Given the description of an element on the screen output the (x, y) to click on. 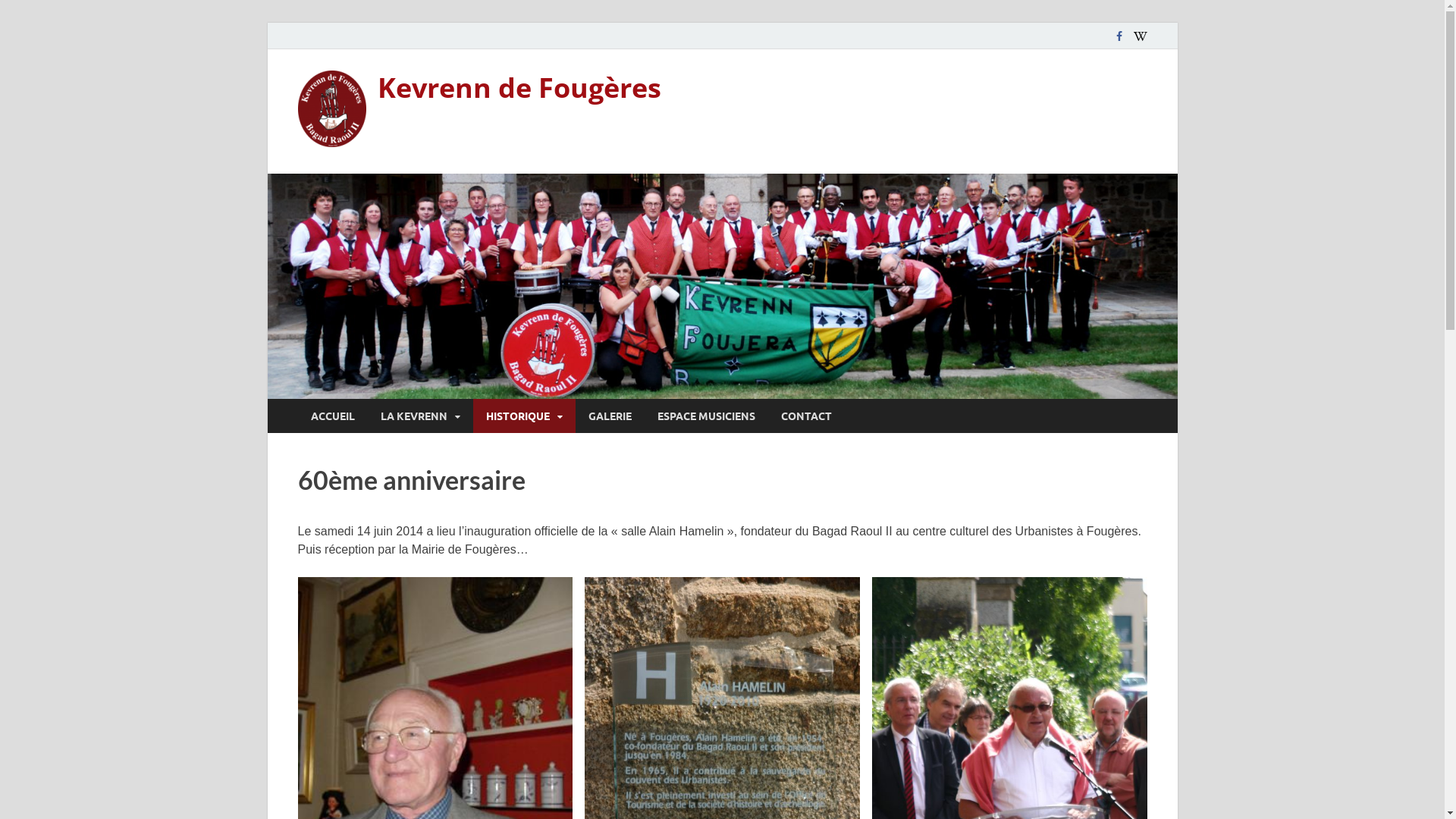
ESPACE MUSICIENS Element type: text (706, 415)
ACCUEIL Element type: text (332, 415)
LA KEVRENN Element type: text (419, 415)
GALERIE Element type: text (608, 415)
HISTORIQUE Element type: text (524, 415)
CONTACT Element type: text (805, 415)
